Given the description of an element on the screen output the (x, y) to click on. 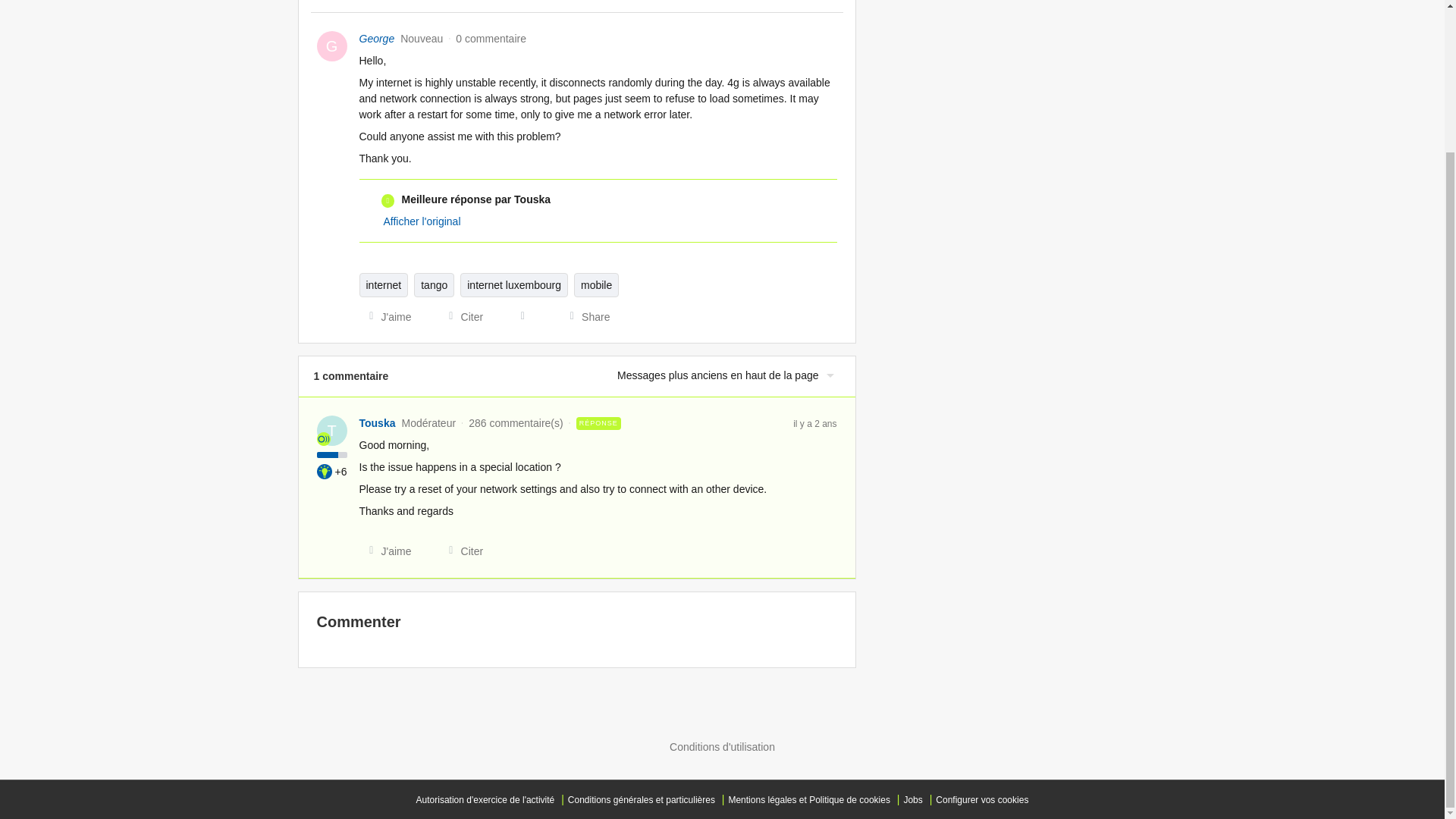
G (332, 46)
tango (433, 284)
il y a 2 ans (814, 422)
T (332, 430)
George (376, 38)
internet (384, 284)
mobile (595, 284)
Conditions d'utilisation (721, 746)
Touska (377, 423)
Citer (461, 550)
Afficher l'original (422, 221)
J'aime (385, 550)
Touska (377, 423)
Visit Gainsight.com (722, 715)
J'aime (385, 316)
